Given the description of an element on the screen output the (x, y) to click on. 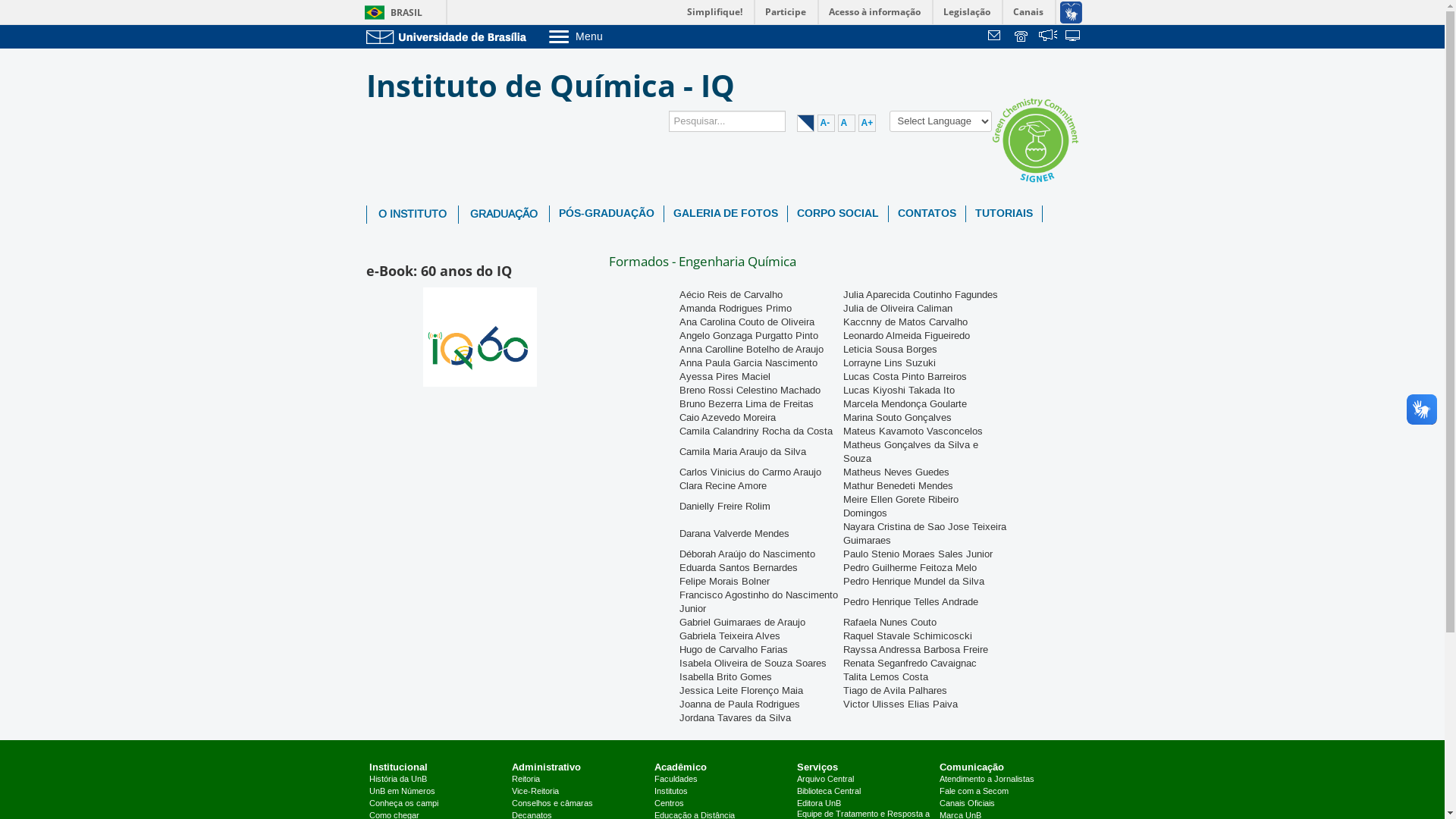
TUTORIAIS Element type: text (1003, 213)
A Element type: text (845, 122)
Webmail Element type: hover (996, 37)
Editora UnB Element type: text (818, 803)
Vice-Reitoria Element type: text (534, 791)
Centros Element type: text (669, 803)
Telefones da UnB Element type: hover (1022, 37)
Fala.BR Element type: hover (1047, 37)
Menu Element type: text (613, 35)
A+ Element type: text (866, 122)
  Element type: text (1022, 37)
BRASIL Element type: text (389, 12)
GALERIA DE FOTOS Element type: text (725, 213)
  Element type: text (1047, 37)
CORPO SOCIAL Element type: text (837, 213)
Sistemas Element type: hover (1073, 37)
Canais Oficiais Element type: text (966, 803)
  Element type: text (1073, 37)
Arquivo Central Element type: text (825, 779)
Reitoria Element type: text (525, 779)
  Element type: text (996, 37)
Atendimento a Jornalistas Element type: text (986, 779)
Biblioteca Central Element type: text (828, 791)
Ir para o Portal da UnB Element type: hover (448, 36)
Fale com a Secom Element type: text (973, 791)
Faculdades Element type: text (675, 779)
A- Element type: text (825, 122)
Institutos Element type: text (670, 791)
CONTATOS Element type: text (926, 213)
